Given the description of an element on the screen output the (x, y) to click on. 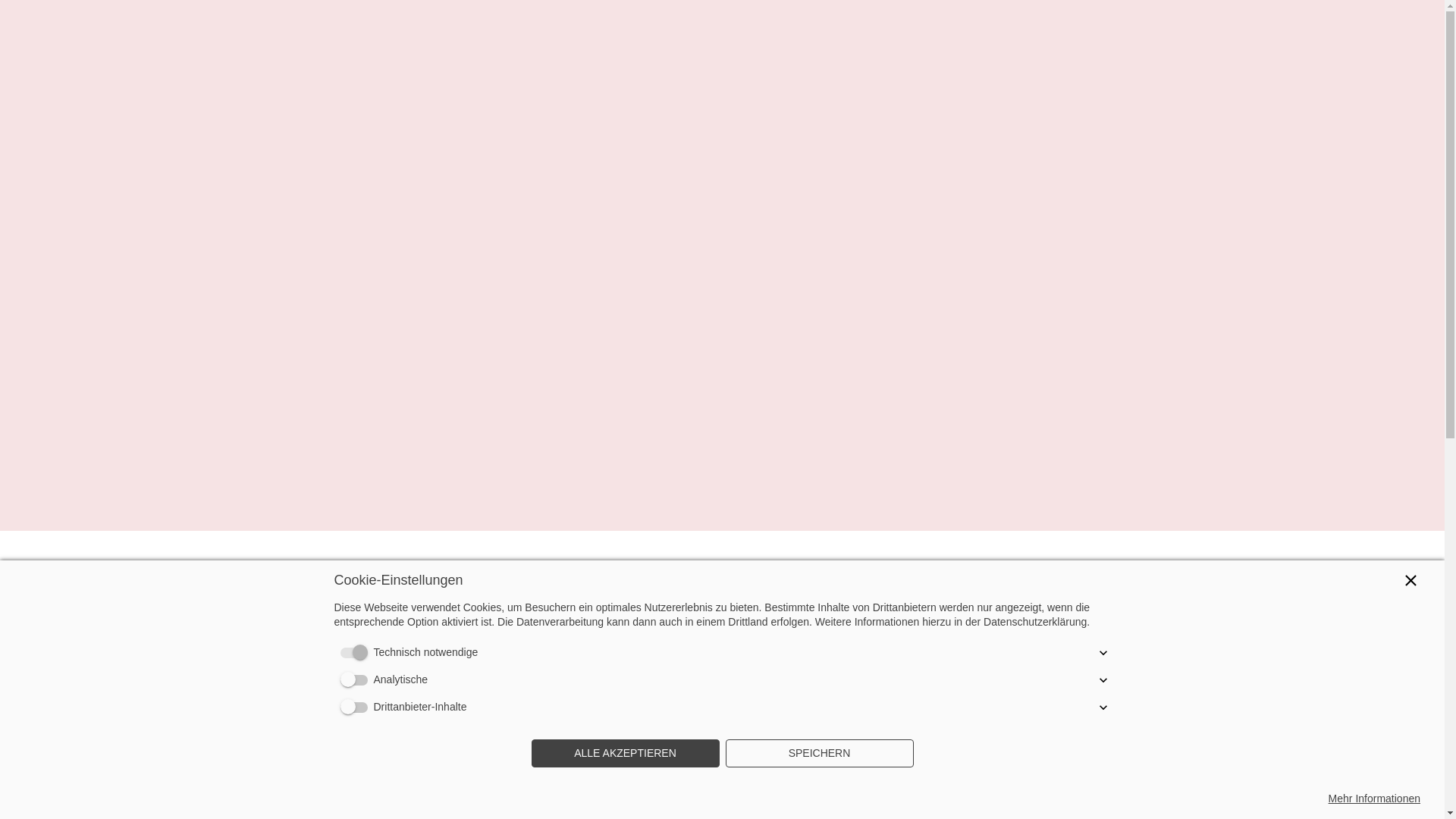
Mehr Informationen Element type: text (1374, 798)
Indikation Element type: text (872, 575)
Kontakt Element type: text (1037, 575)
Therapie Element type: text (795, 575)
Krankenkassen Element type: text (957, 575)
SPEICHERN Element type: text (818, 753)
Home Element type: text (584, 575)
Diagnose Element type: text (721, 575)
ALLE AKZEPTIEREN Element type: text (624, 753)
Zur Person Element type: text (649, 575)
